Given the description of an element on the screen output the (x, y) to click on. 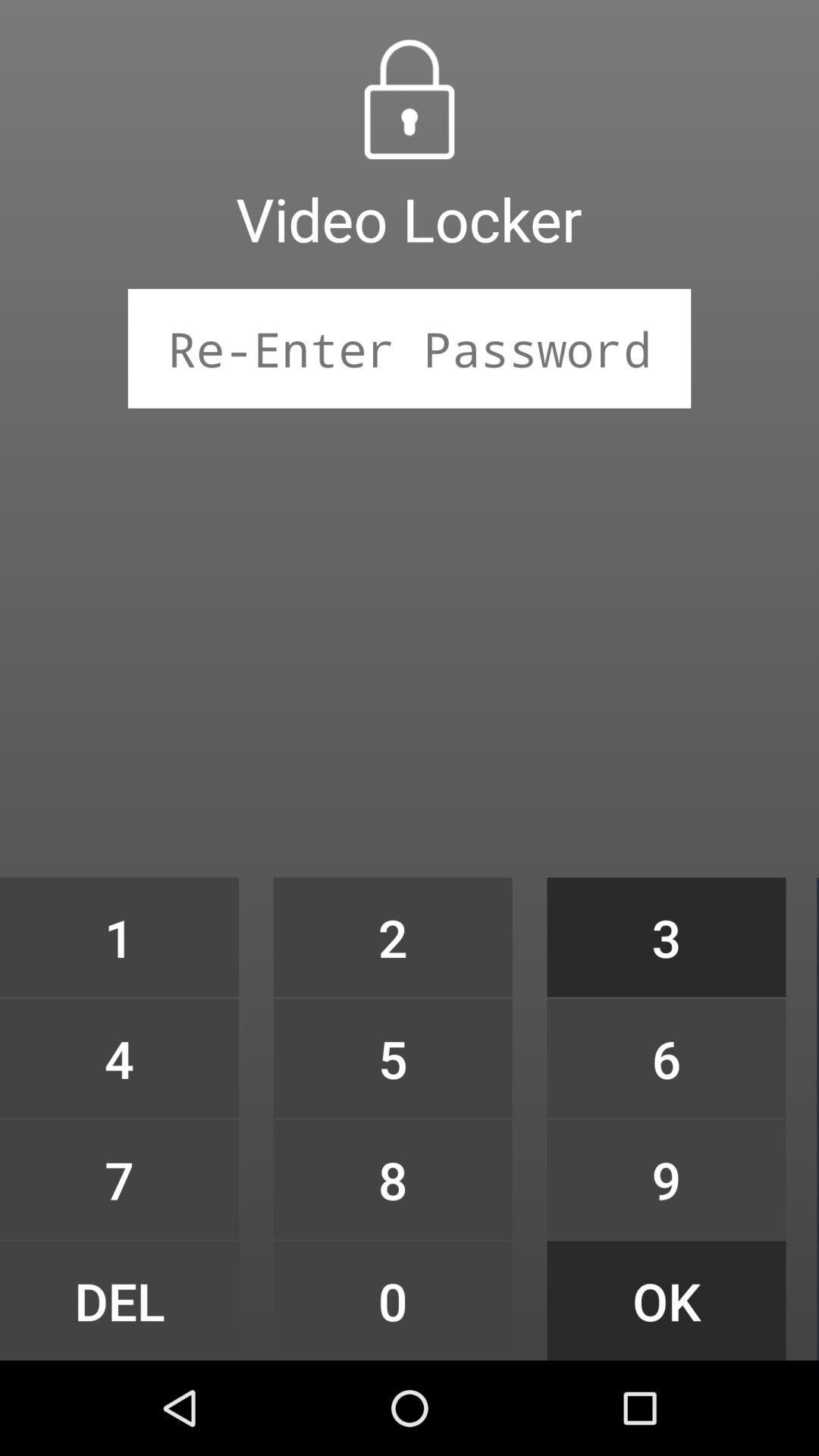
click the item next to 8 (666, 1300)
